Given the description of an element on the screen output the (x, y) to click on. 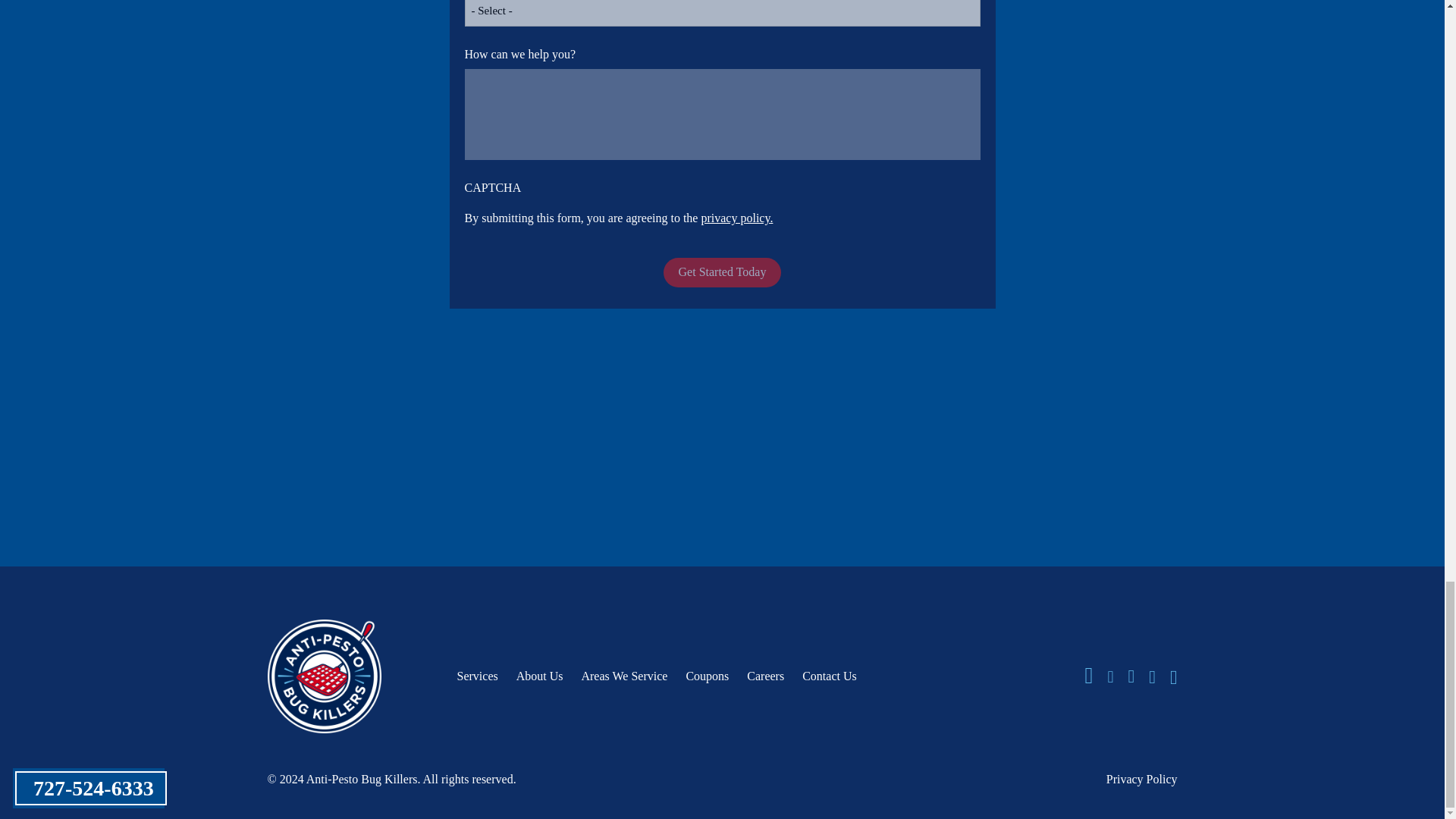
Get Started Today (722, 272)
